Given the description of an element on the screen output the (x, y) to click on. 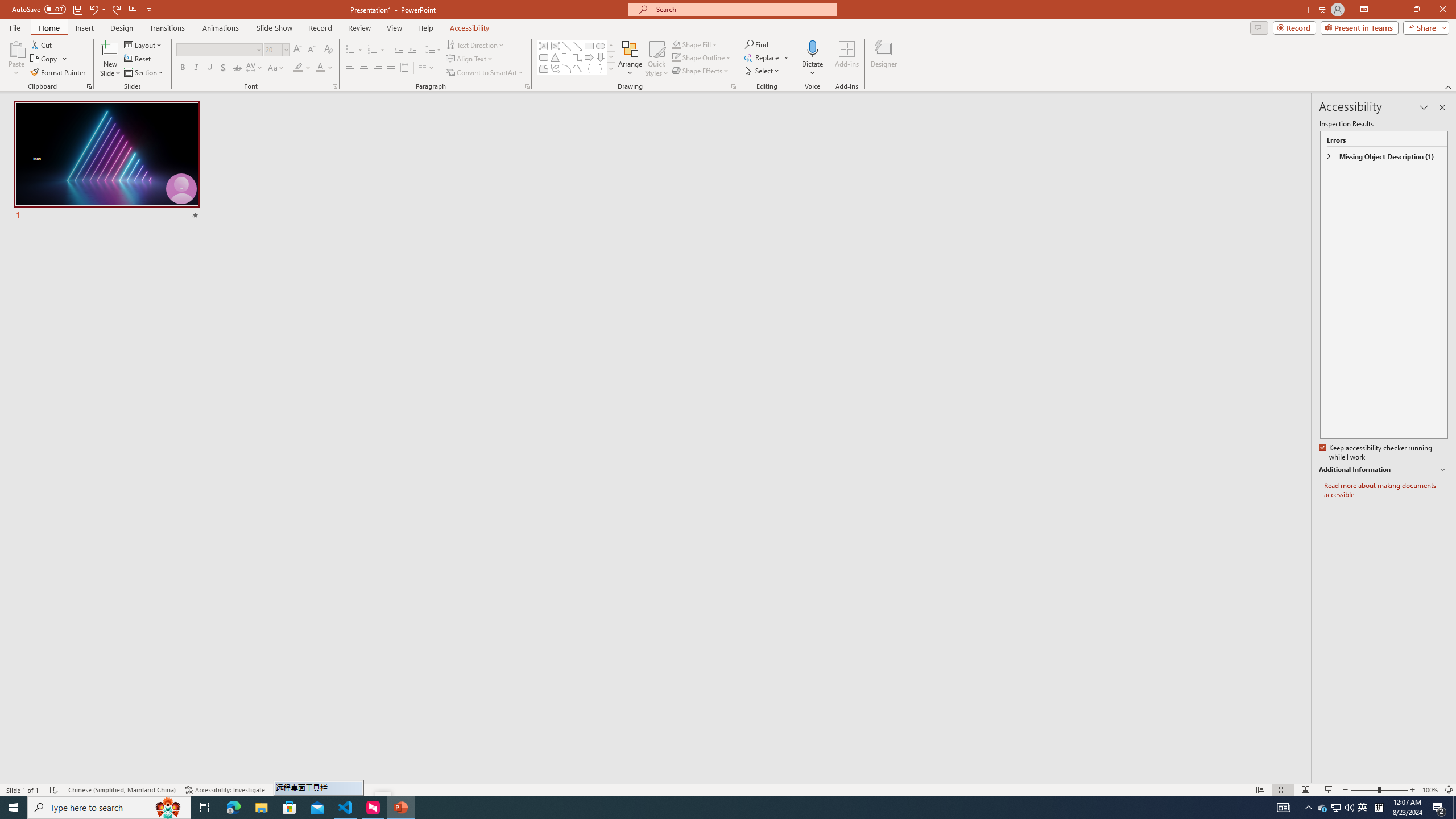
Shape Outline (701, 56)
Align Text (470, 58)
Line Arrow (577, 45)
Right Brace (600, 68)
Oval (600, 45)
Shadow (223, 67)
Italic (195, 67)
